Given the description of an element on the screen output the (x, y) to click on. 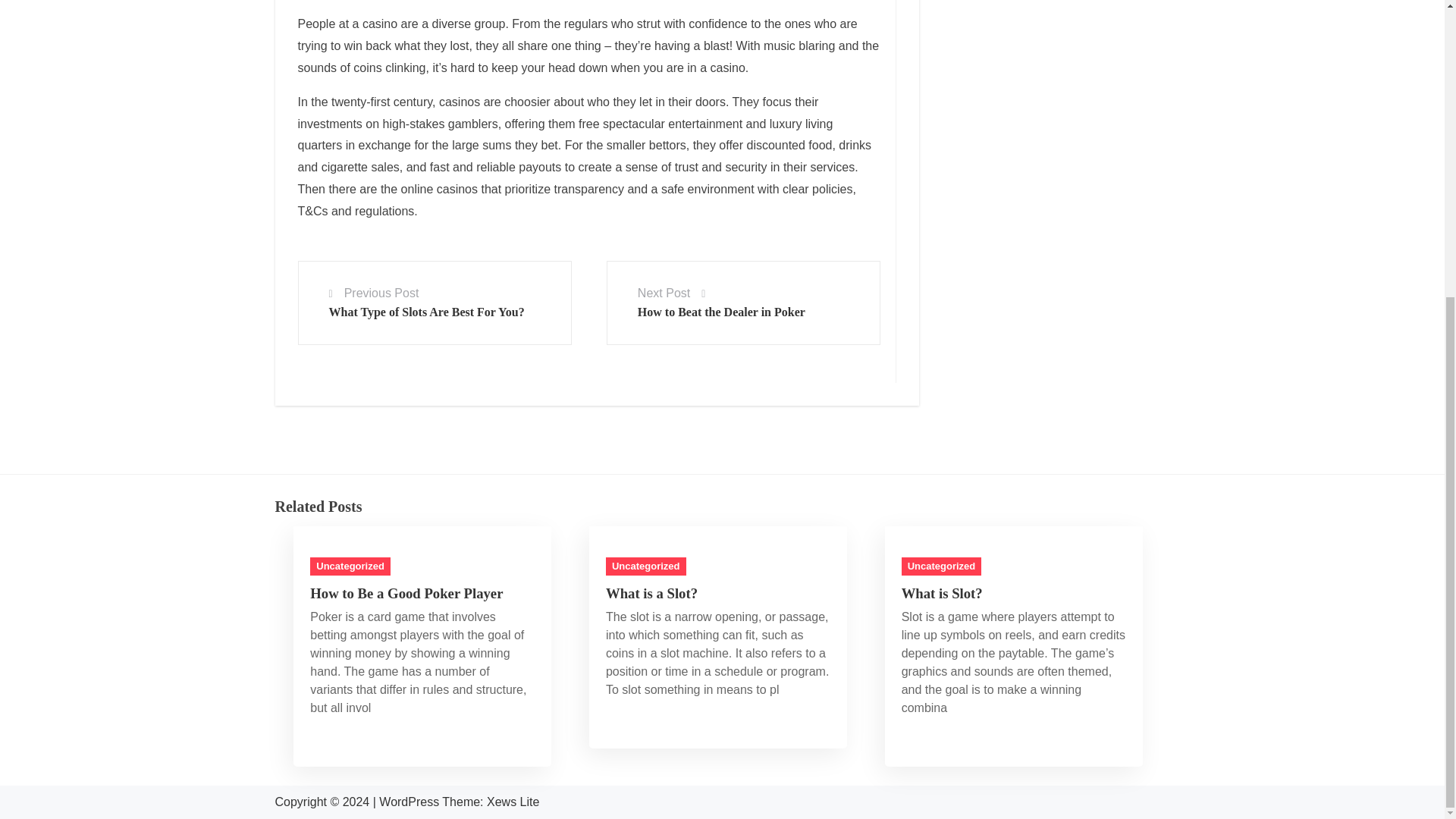
Uncategorized (350, 566)
What is a Slot? (651, 593)
Xews Lite (512, 801)
How to Be a Good Poker Player (406, 593)
Next Post (663, 292)
What Type of Slots Are Best For You? (426, 311)
What is Slot? (941, 593)
How to Beat the Dealer in Poker (721, 311)
Previous Post (381, 292)
Uncategorized (941, 566)
Uncategorized (645, 566)
